Given the description of an element on the screen output the (x, y) to click on. 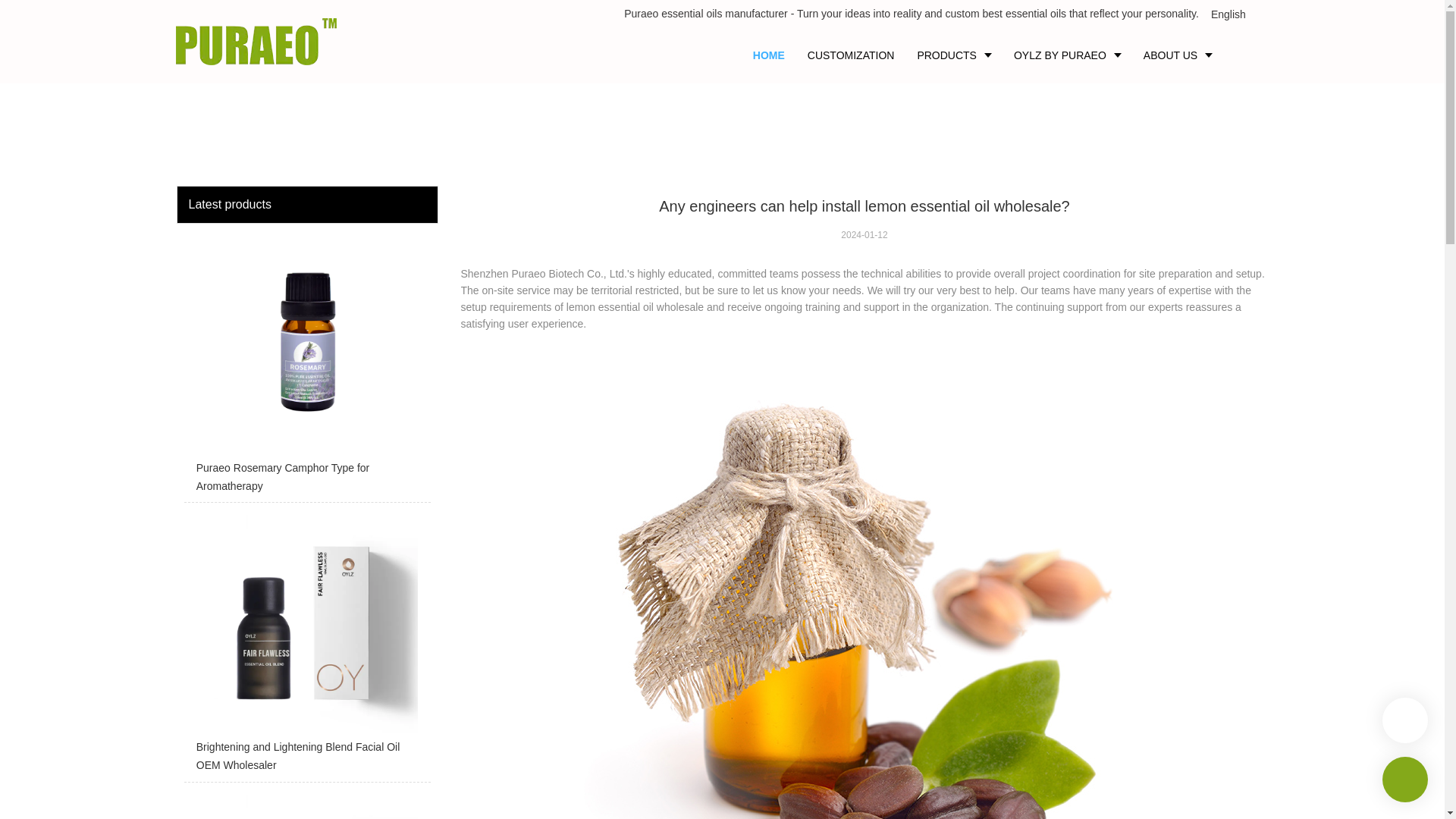
OYLZ BY PURAEO (1067, 55)
Brightening and Lightening Blend Facial Oil OEM Wholesaler (306, 646)
Citrus Fresh Aroma Blend Oil OEM (306, 804)
CUSTOMIZATION (850, 55)
ABOUT US (1177, 55)
HOME (768, 55)
PRODUCTS (954, 55)
Puraeo Rosemary Camphor Type for Aromatherapy (306, 366)
